Given the description of an element on the screen output the (x, y) to click on. 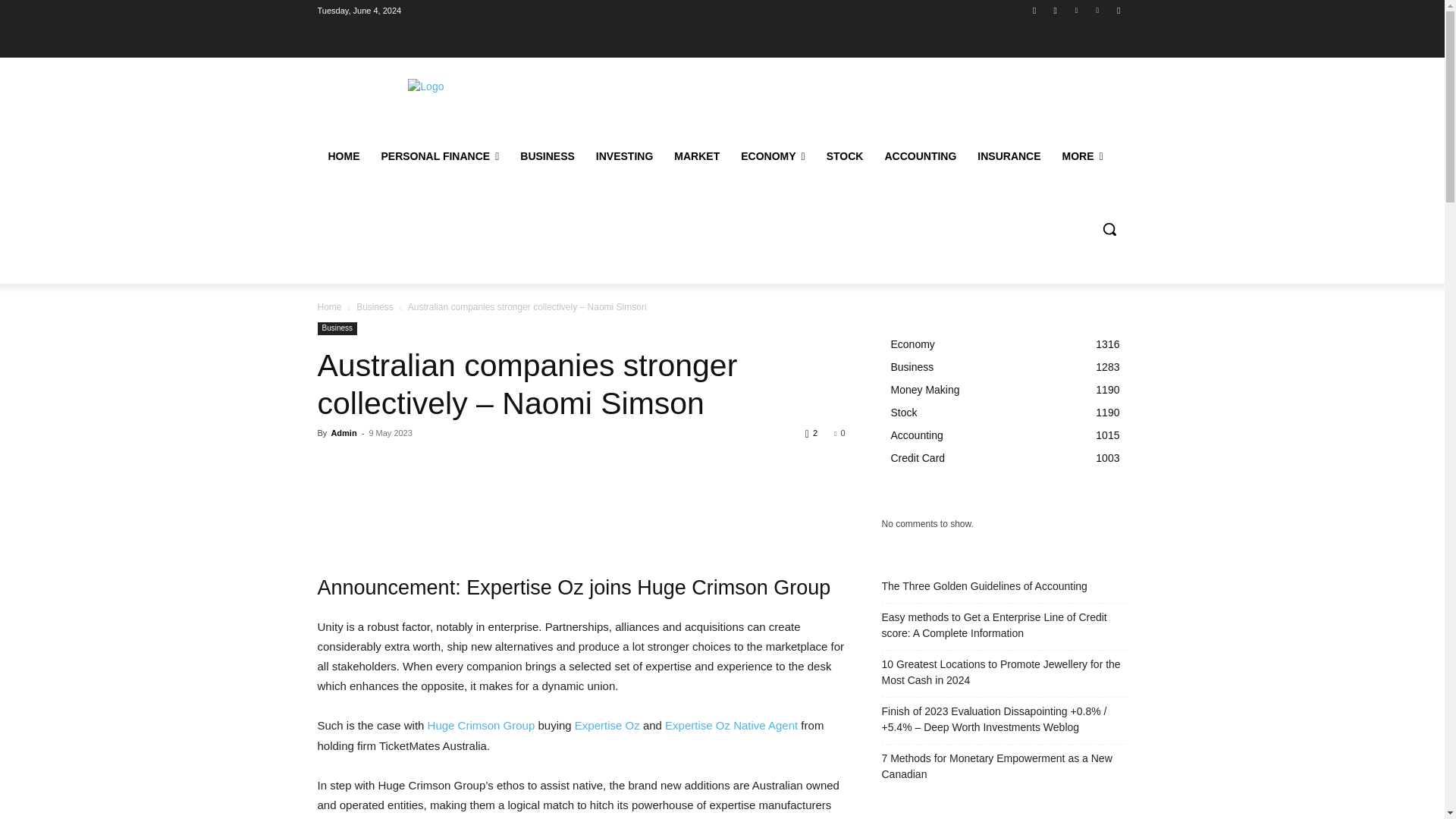
Facebook (1034, 9)
Twitter (1075, 9)
Instagram (1055, 9)
View all posts in Business (374, 307)
Youtube (1117, 9)
Vimeo (1097, 9)
